Given the description of an element on the screen output the (x, y) to click on. 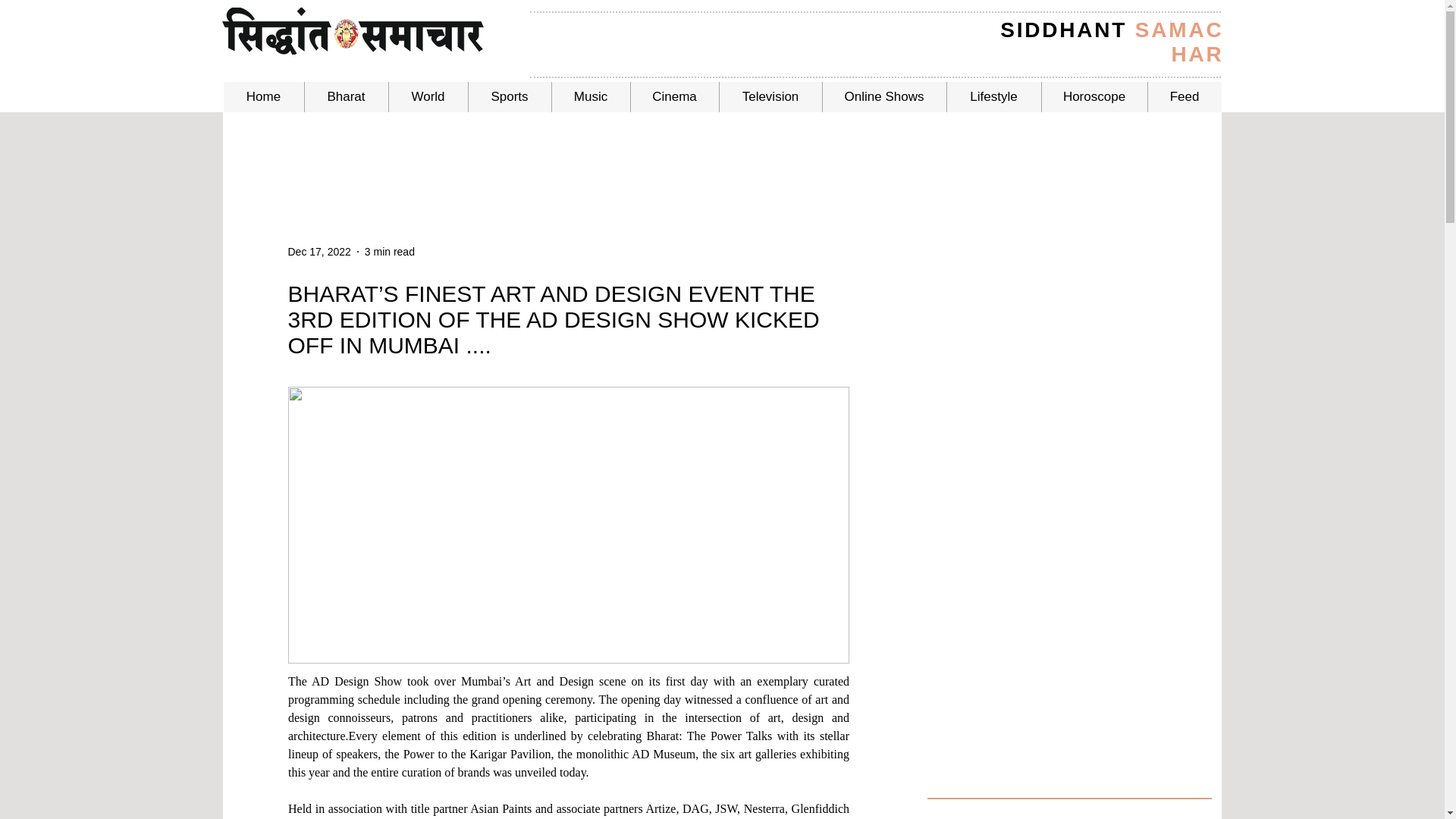
Siddhant Samachar (352, 30)
3 min read (389, 251)
World (427, 96)
Cinema (672, 96)
Online Shows (884, 96)
Horoscope (1094, 96)
SIDDHANT SAMACHAR (1111, 42)
Home (262, 96)
Music (589, 96)
Lifestyle (993, 96)
